Given the description of an element on the screen output the (x, y) to click on. 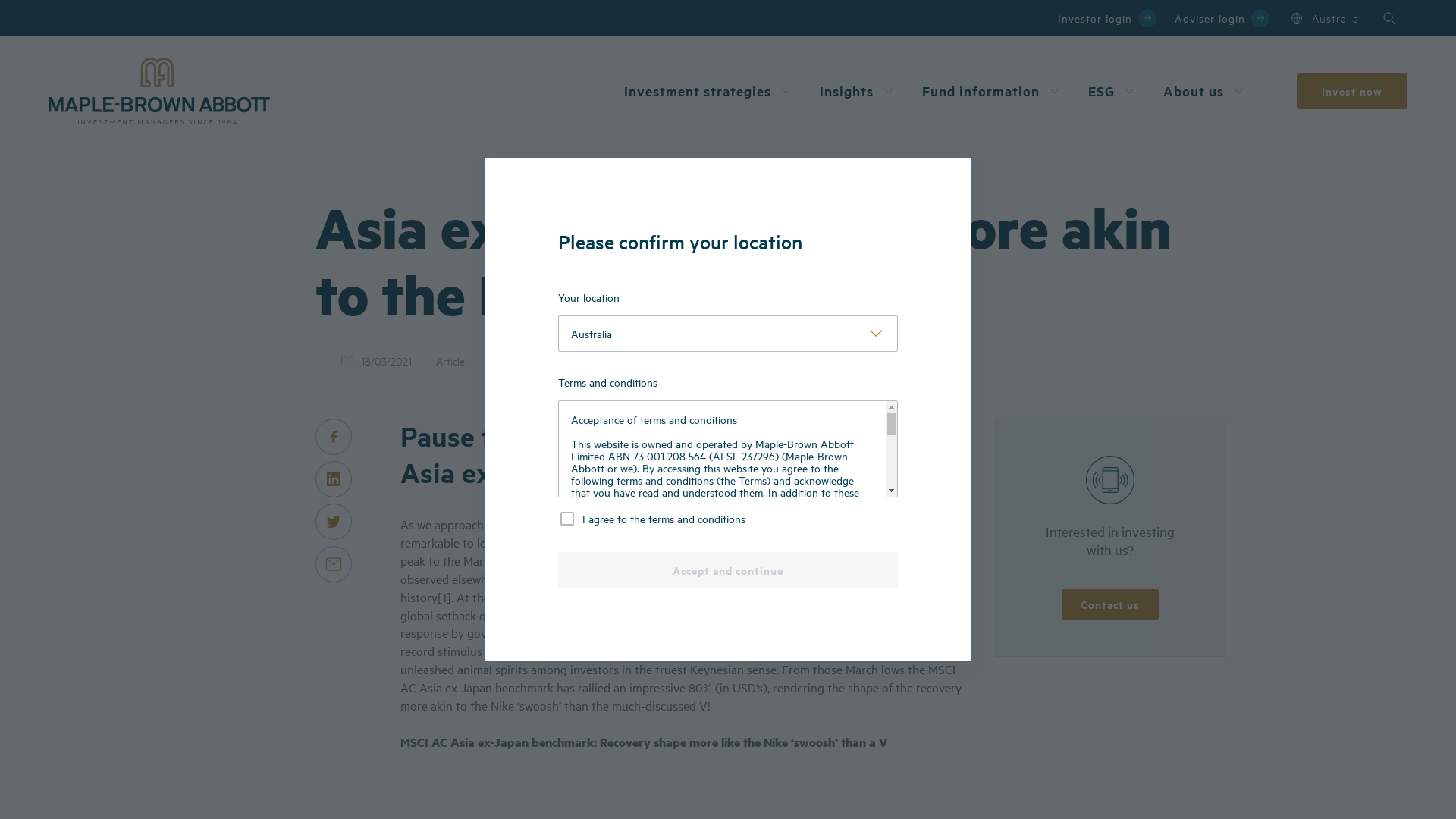
ESG Element type: text (1113, 90)
Contact us Element type: text (1109, 604)
Australia Element type: text (1322, 18)
Investor login Element type: text (1106, 18)
Adviser login Element type: text (1221, 18)
Insights Element type: text (858, 90)
LinkedIn Share Element type: text (333, 479)
Email Share Element type: text (333, 564)
Facebook Share Element type: text (333, 436)
Accept and continue Element type: text (727, 570)
Investment strategies Element type: text (709, 90)
Twitter Share Element type: text (333, 521)
Fund information Element type: text (993, 90)
About us Element type: text (1205, 90)
Invest now Element type: text (1351, 90)
